Given the description of an element on the screen output the (x, y) to click on. 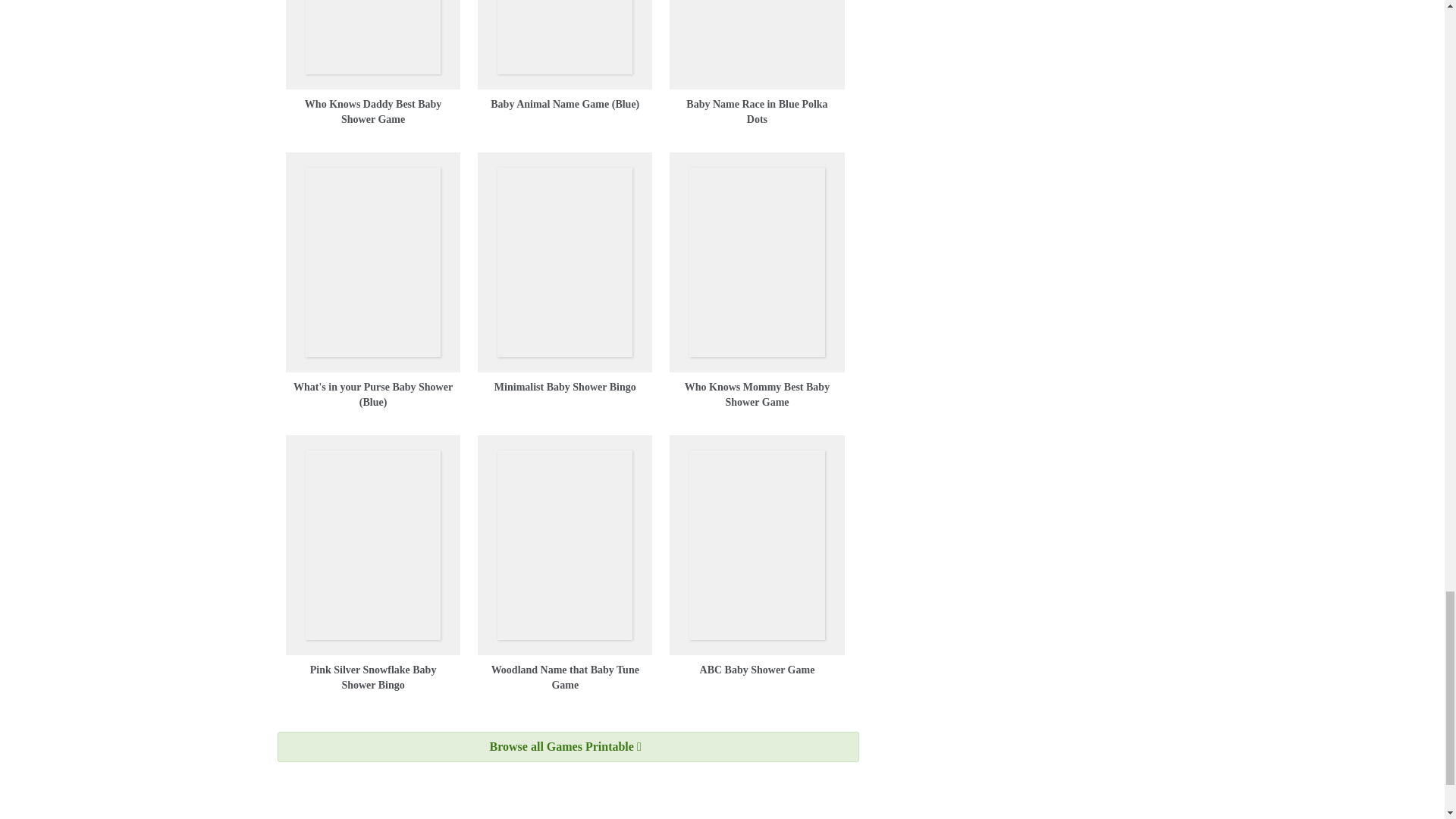
Who Knows Mommy Best Baby Shower Game (756, 394)
Baby Name Race in Blue Polka Dots (756, 111)
Who Knows Daddy Best Baby Shower Game (373, 111)
Minimalist Baby Shower Bingo (565, 387)
